Given the description of an element on the screen output the (x, y) to click on. 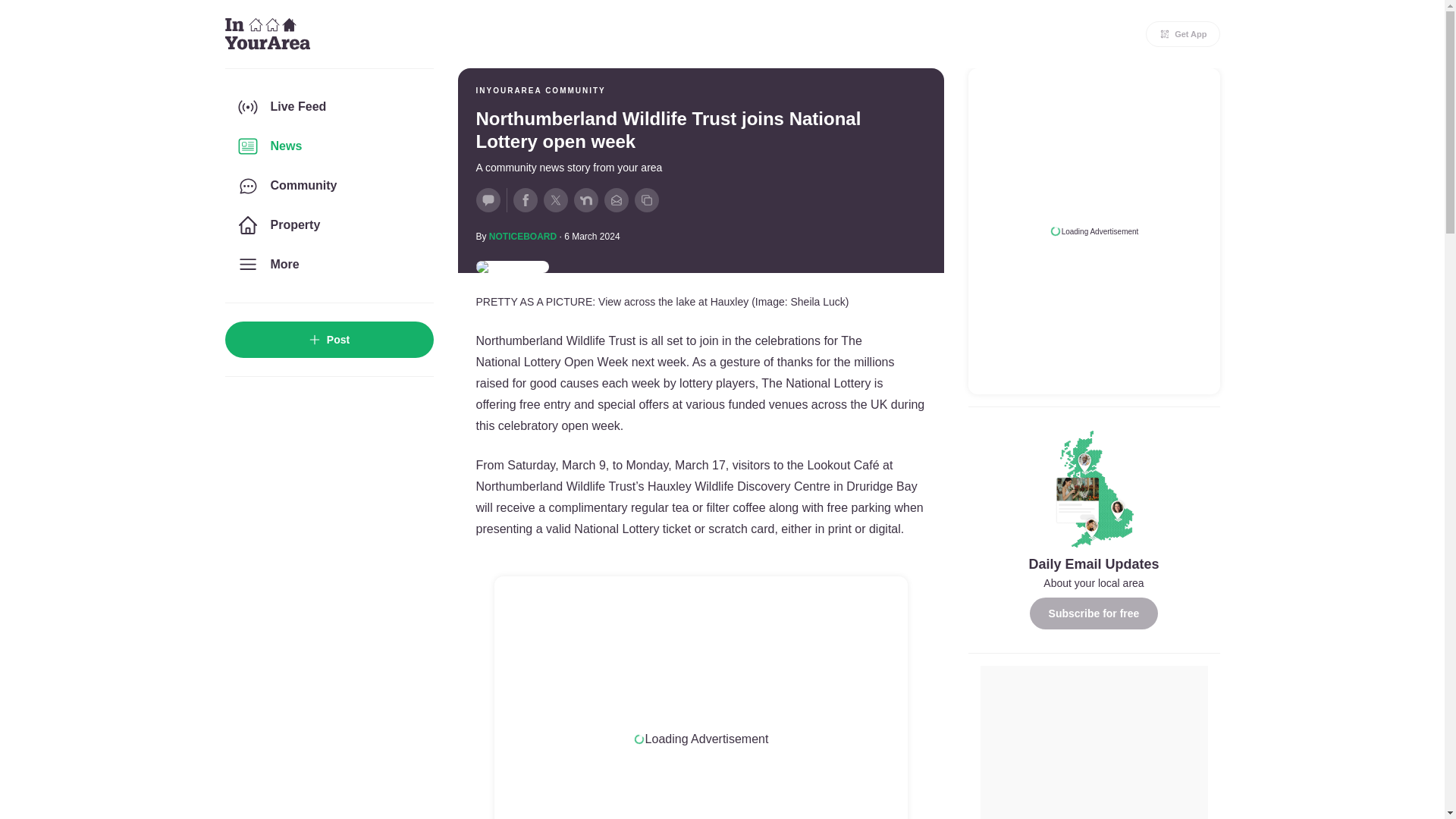
Get App (1182, 33)
Community (328, 185)
Property (328, 224)
Get App (1182, 33)
Live Feed (328, 106)
Post (328, 339)
Share to email (615, 200)
Social Button (488, 200)
Share to Nextdoor (584, 200)
News (328, 146)
